Given the description of an element on the screen output the (x, y) to click on. 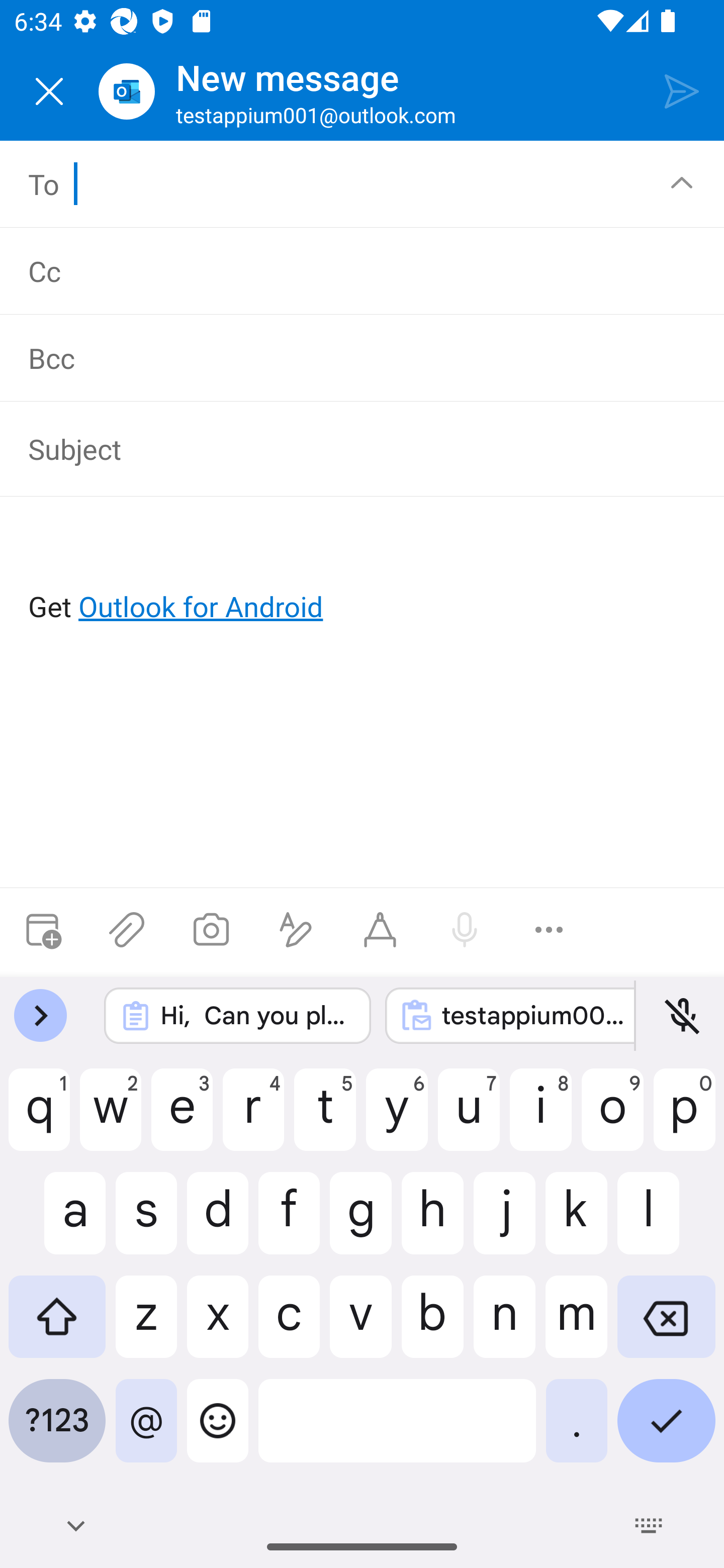
Close (49, 91)
Send (681, 90)
Subject (347, 448)


Get Outlook for Android (363, 573)
Attach meeting (42, 929)
Attach files (126, 929)
Take a photo (210, 929)
Show formatting options (295, 929)
Start Ink compose (380, 929)
More options (548, 929)
